Given the description of an element on the screen output the (x, y) to click on. 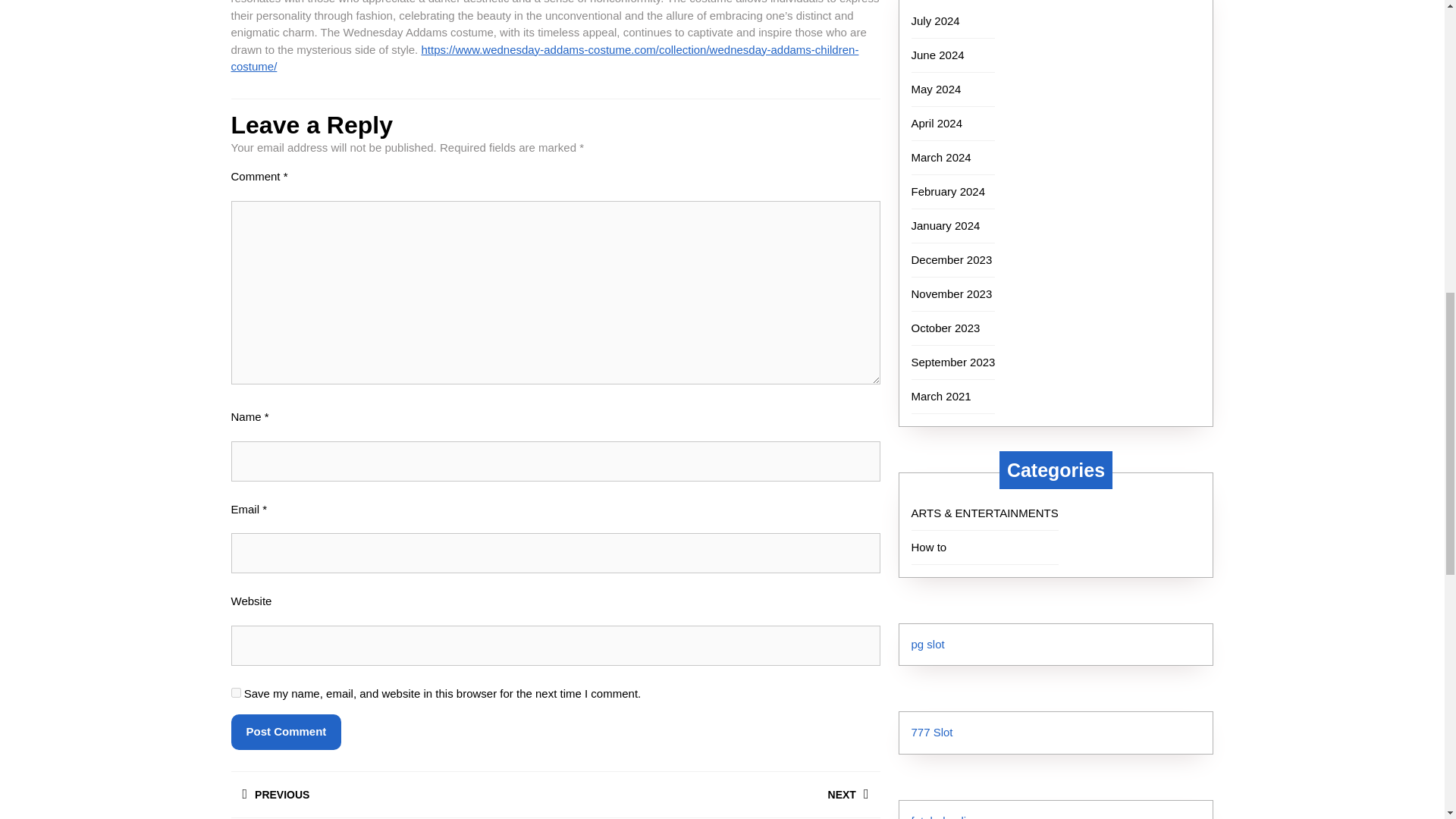
Post Comment (285, 732)
yes (235, 692)
Post Comment (285, 732)
